Given the description of an element on the screen output the (x, y) to click on. 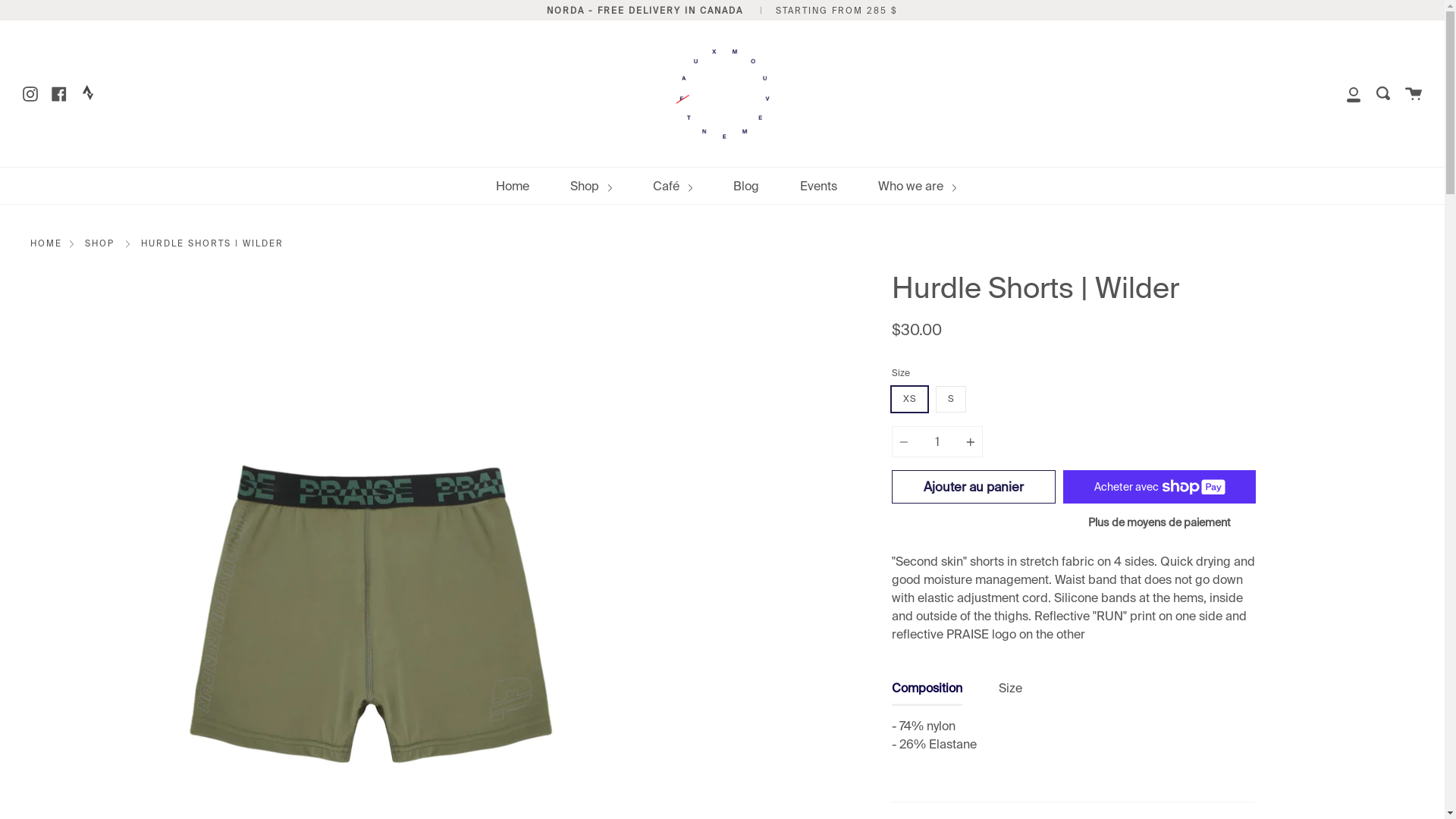
Research Element type: text (1383, 93)
Plus de moyens de paiement Element type: text (1159, 522)
Cart Element type: text (1413, 93)
SHOP Element type: text (99, 243)
Instagram Element type: text (29, 92)
Events Element type: text (818, 185)
HOME Element type: text (46, 243)
Who we are Element type: text (917, 185)
Shop Element type: text (590, 185)
Facebook Element type: text (58, 92)
Blog Element type: text (745, 185)
Home Element type: text (512, 185)
Twitter Element type: text (87, 94)
NORDA - FREE DELIVERY IN CANADA | STARTING FROM 285 $ Element type: text (721, 10)
Ajouter au panier Element type: text (973, 486)
Account Element type: text (1353, 93)
